Given the description of an element on the screen output the (x, y) to click on. 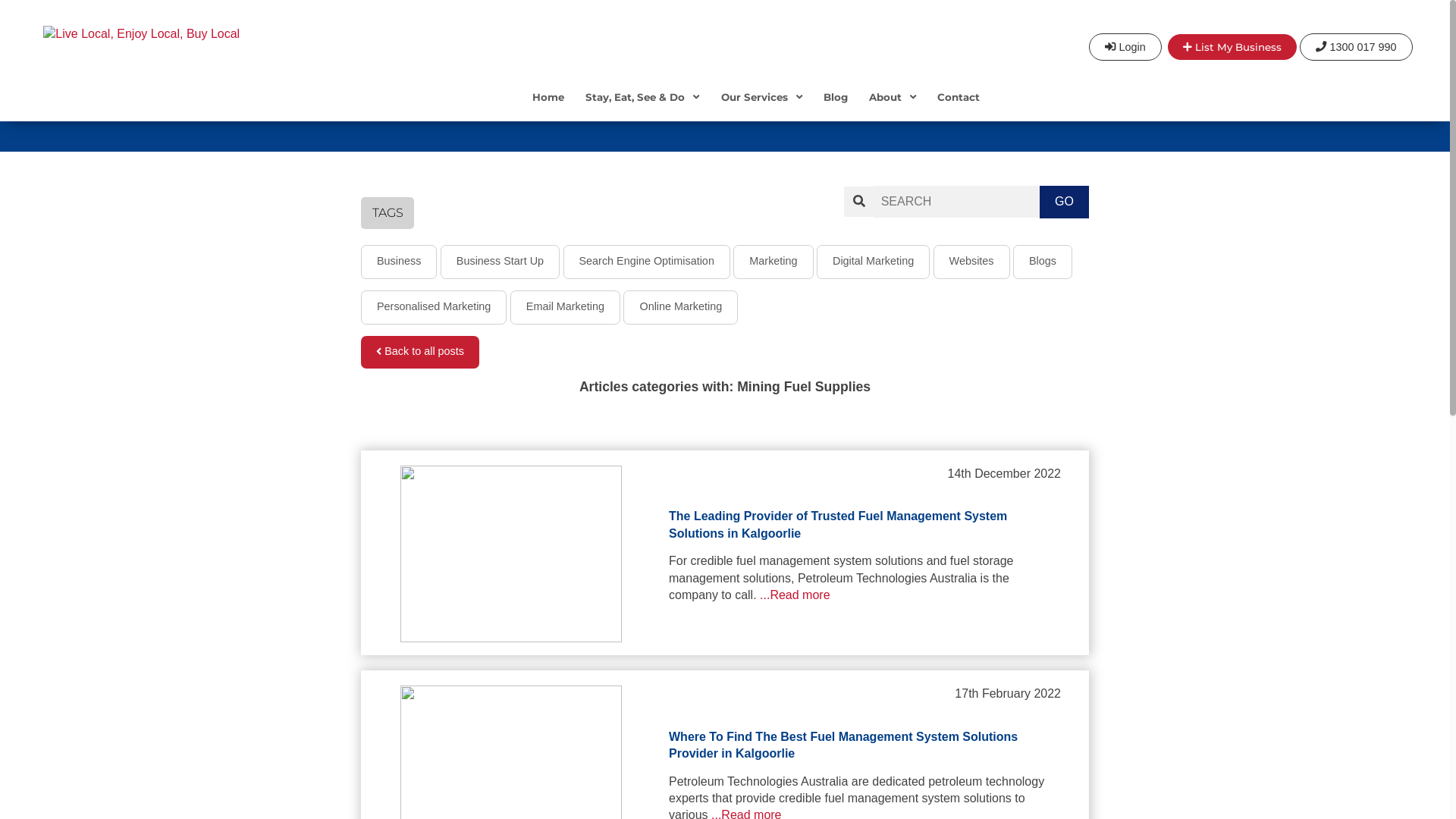
Home Element type: text (547, 107)
Login Element type: text (1124, 46)
Blogs Element type: text (1042, 261)
About Element type: text (892, 107)
Contact Element type: text (958, 107)
Digital Marketing Element type: text (872, 261)
List My Business Element type: text (1231, 46)
Online Marketing Element type: text (680, 307)
Our Services Element type: text (761, 107)
GO Element type: text (1063, 201)
...Read more Element type: text (794, 594)
Stay, Eat, See & Do Element type: text (641, 107)
Blog Element type: text (835, 107)
Marketing Element type: text (772, 261)
Business Element type: text (398, 261)
Back to all posts Element type: text (419, 351)
Live Local, Enjoy Local, Buy Local Element type: hover (220, 33)
Websites Element type: text (971, 261)
Search Engine Optimisation Element type: text (645, 261)
Business Start Up Element type: text (499, 261)
1300 017 990 Element type: text (1355, 46)
Personalised Marketing Element type: text (433, 307)
Email Marketing Element type: text (565, 307)
